Given the description of an element on the screen output the (x, y) to click on. 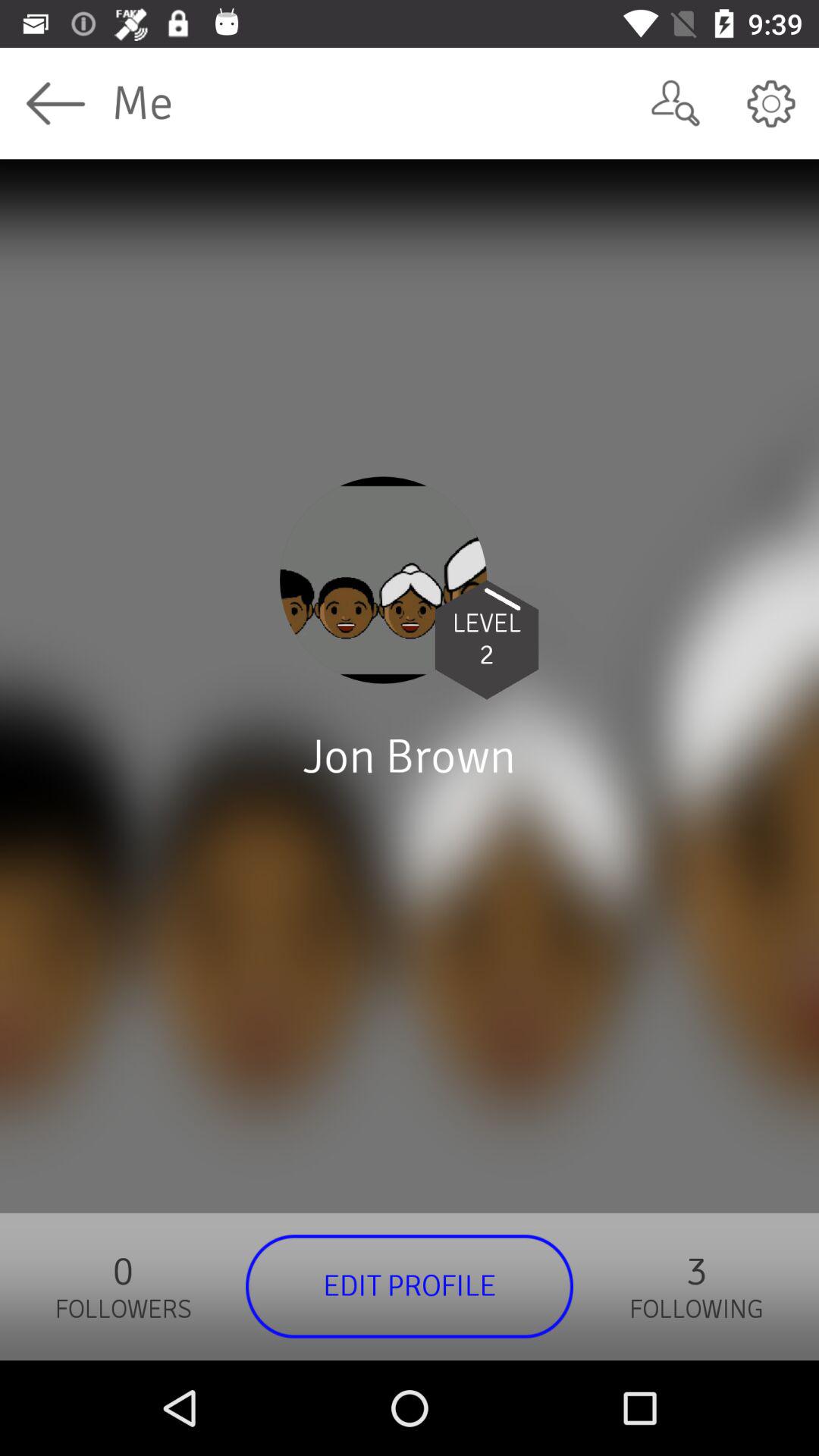
select edit profile icon (409, 1286)
